Given the description of an element on the screen output the (x, y) to click on. 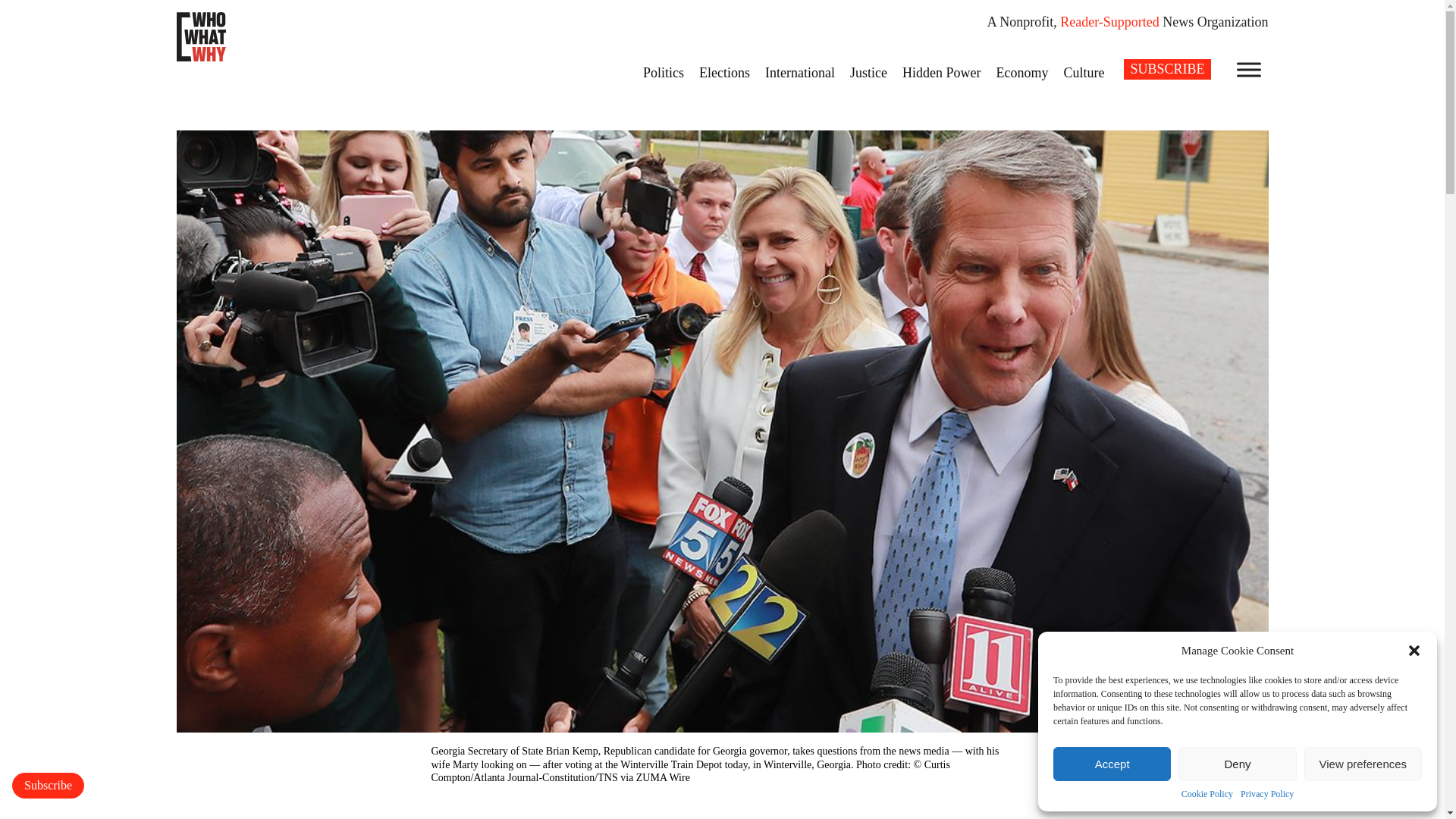
Economy (1021, 72)
Justice (869, 72)
Elections (724, 72)
Subscribe (47, 785)
Privacy Policy (1267, 794)
View preferences (1363, 763)
Politics (662, 72)
Search (21, 7)
SUBSCRIBE (1166, 68)
Deny (1236, 763)
Cookie Policy (1206, 794)
Accept (1111, 763)
Culture (1083, 72)
International (800, 72)
Reader-Supported (1108, 21)
